Given the description of an element on the screen output the (x, y) to click on. 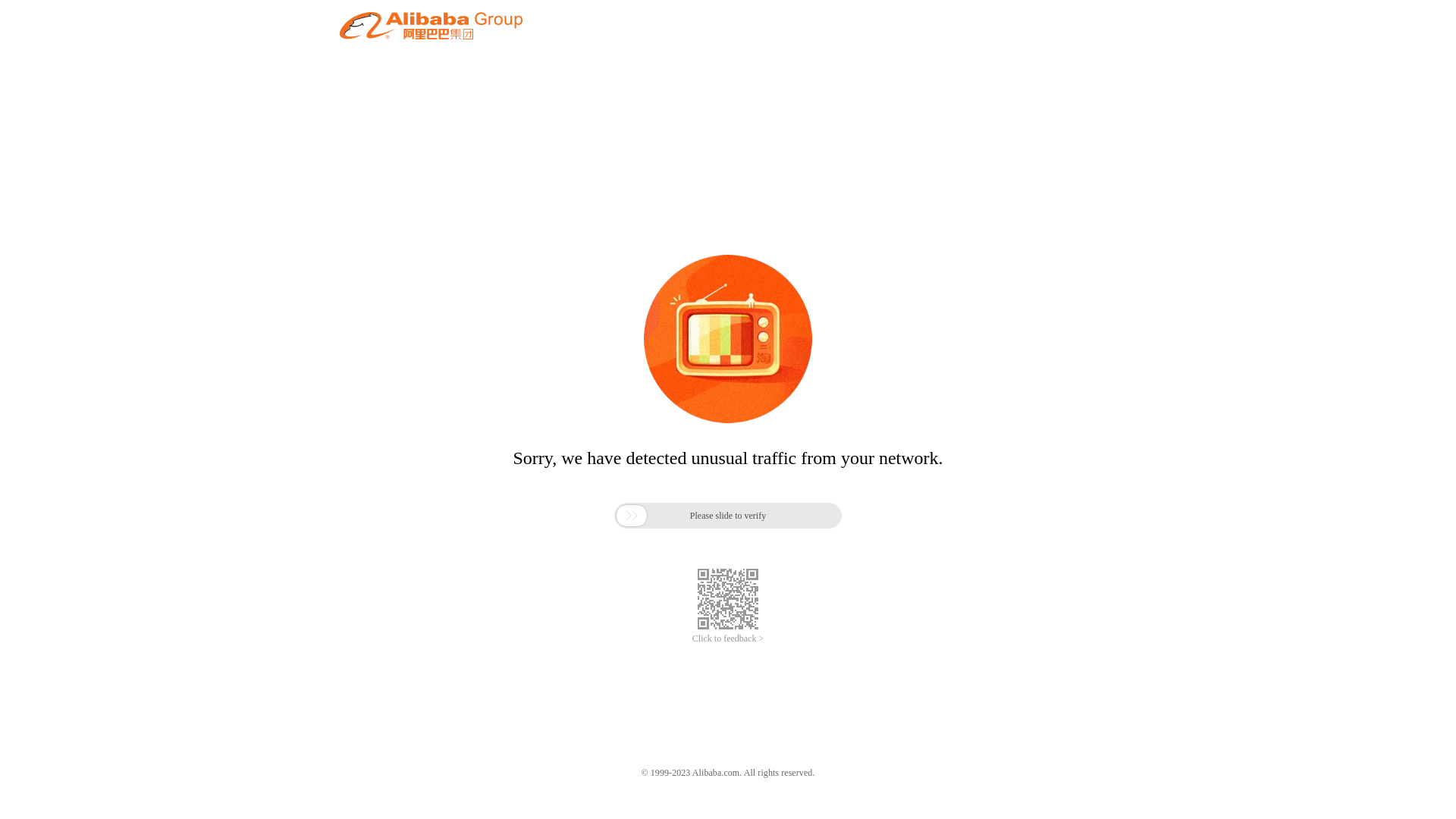
Click to feedback > Element type: text (727, 638)
